Given the description of an element on the screen output the (x, y) to click on. 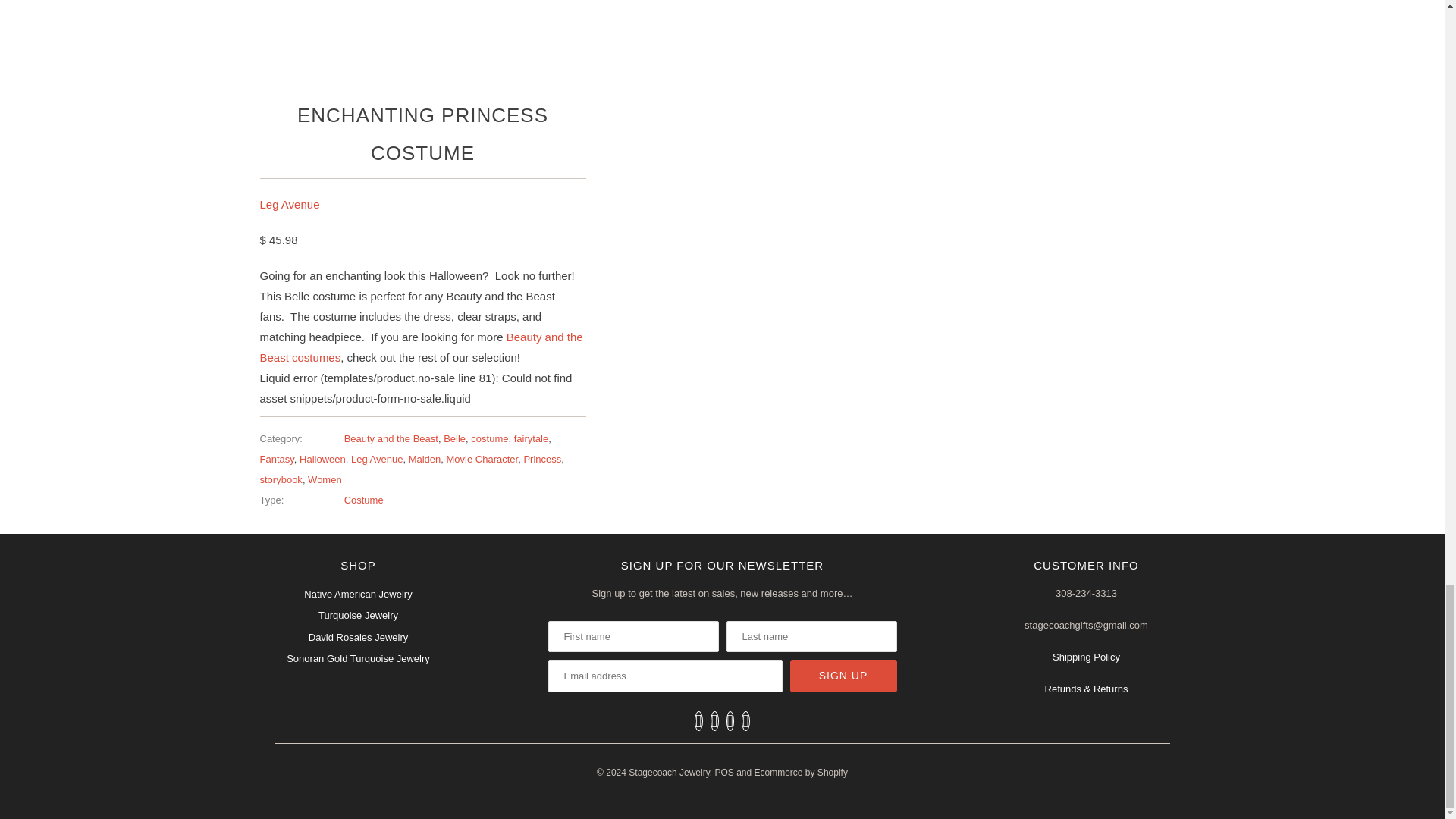
Products tagged fairytale (530, 437)
Products tagged Belle (454, 437)
Leg Avenue (376, 459)
Products tagged Princess (541, 459)
Products tagged Movie Character (482, 459)
Products tagged Maiden (425, 459)
fairytale (530, 437)
Belle (454, 437)
Leg Avenue (288, 203)
Products tagged Women (324, 478)
